Given the description of an element on the screen output the (x, y) to click on. 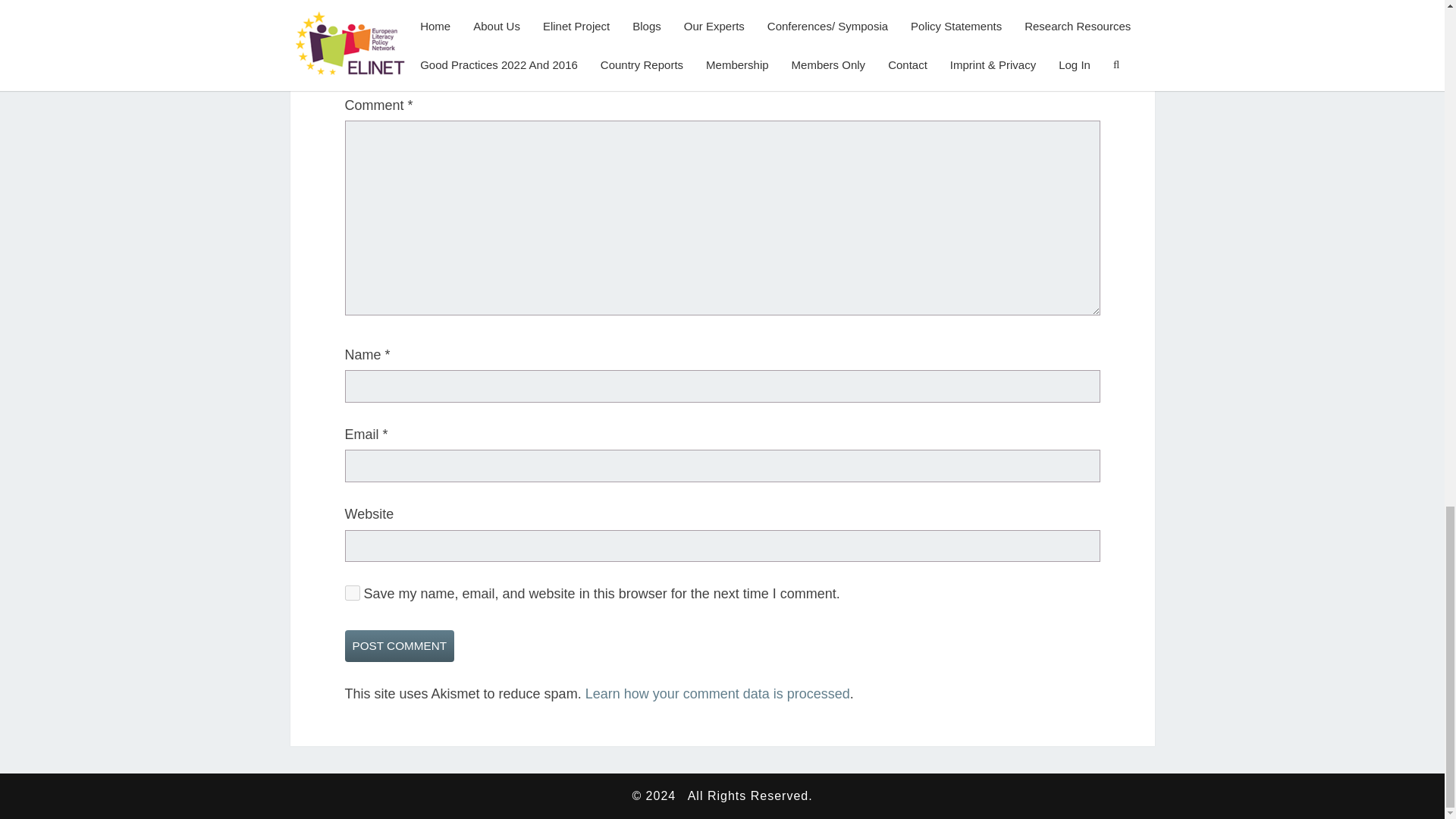
Post Comment (398, 645)
Post Comment (398, 645)
Learn how your comment data is processed (717, 693)
yes (351, 592)
